Given the description of an element on the screen output the (x, y) to click on. 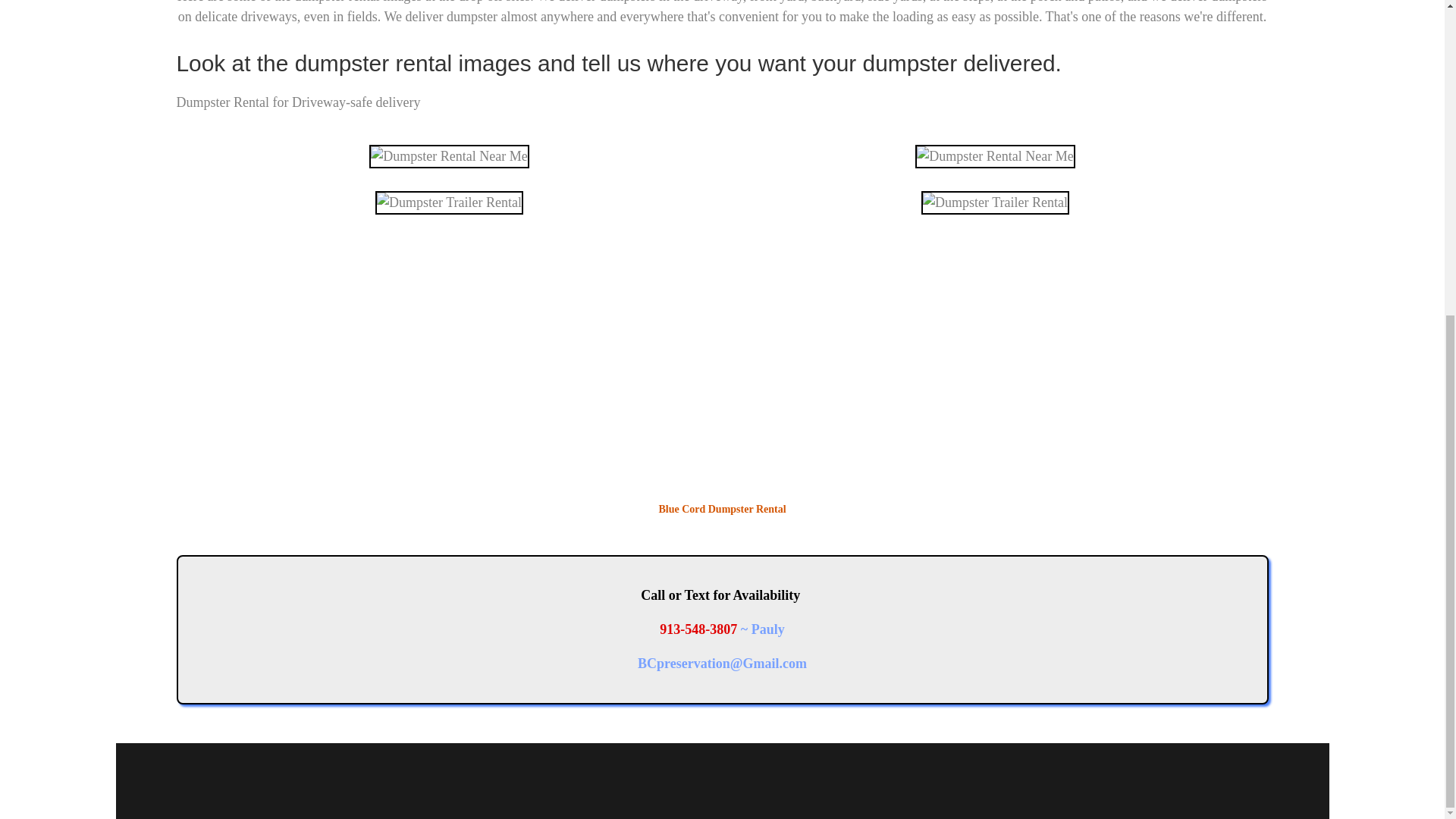
Dumpster Rental Near Me (448, 156)
Go to Blue Cord Dumpster Rental (722, 499)
Dumpster Rental Near Me (994, 156)
Dumpster Trailer Rental (994, 202)
Blue Cord Dumpster Rental (722, 366)
Blue Cord Dumpster Rental (722, 499)
Dumpster Trailer Rental (448, 202)
